Given the description of an element on the screen output the (x, y) to click on. 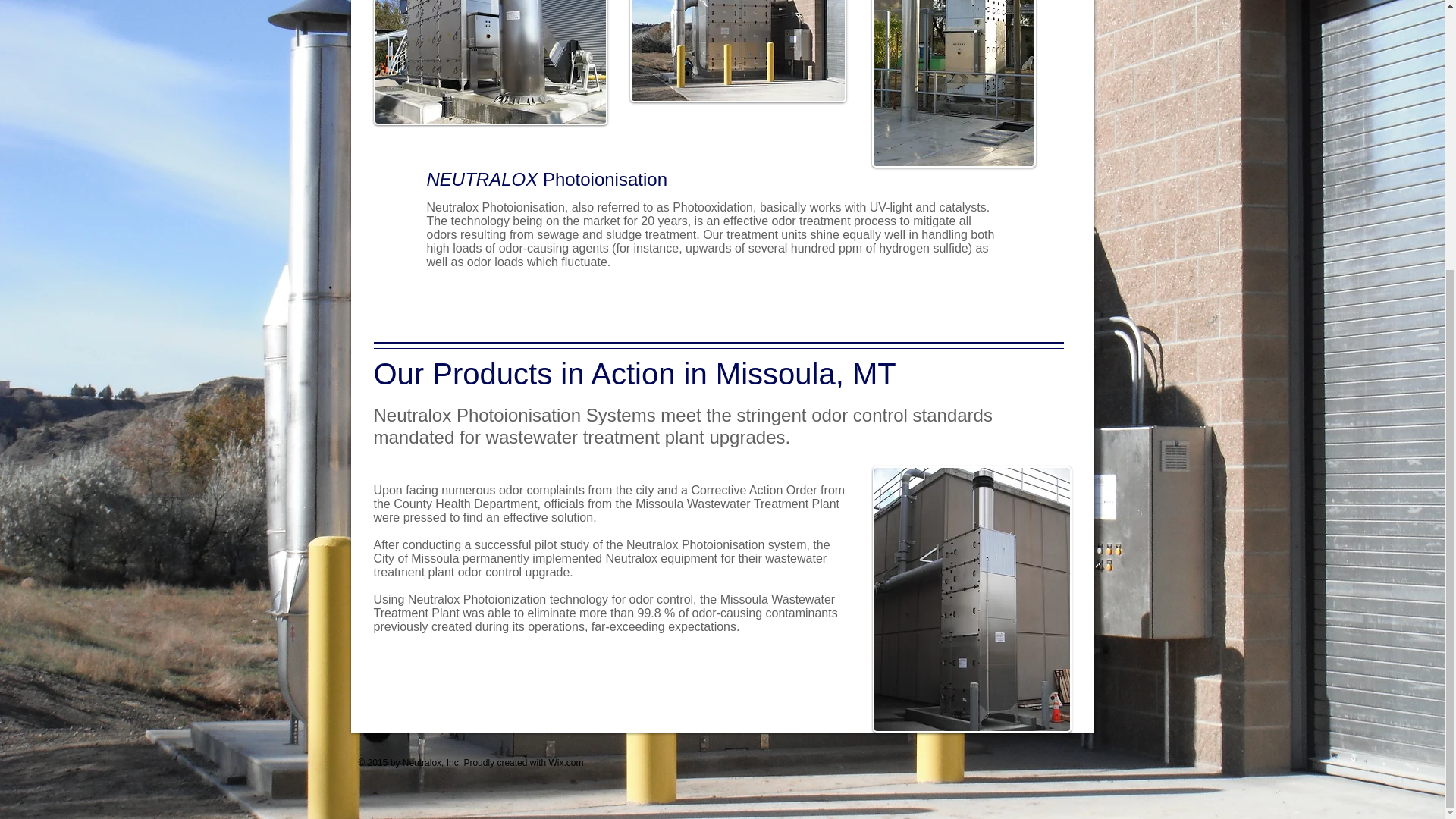
Miles.jpeg.JPG (736, 51)
Wix.com (565, 762)
